Given the description of an element on the screen output the (x, y) to click on. 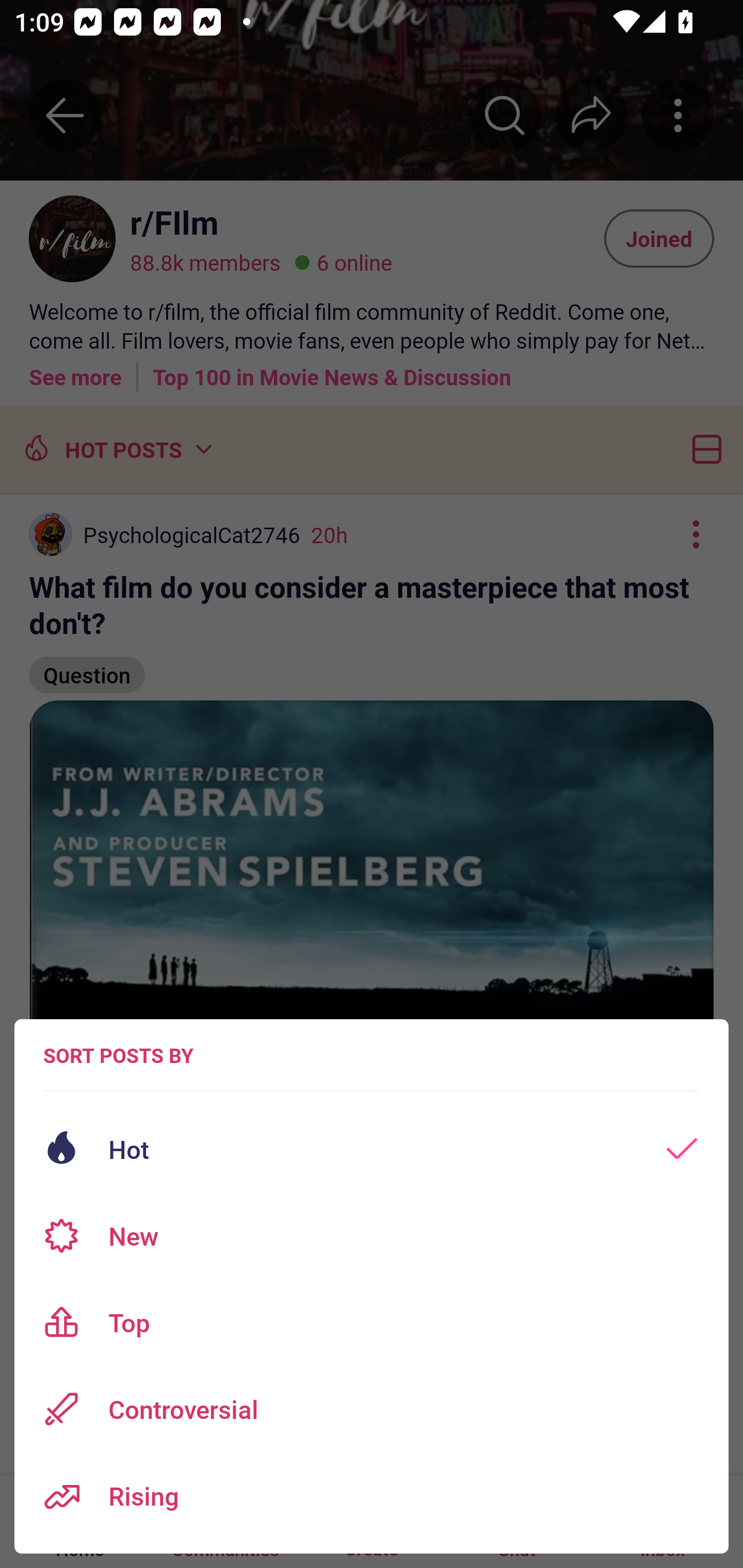
SORT POSTS BY Sort posts options (118, 1055)
Hot (371, 1149)
New (371, 1236)
Top (371, 1322)
Controversial (371, 1408)
Rising (371, 1495)
